Given the description of an element on the screen output the (x, y) to click on. 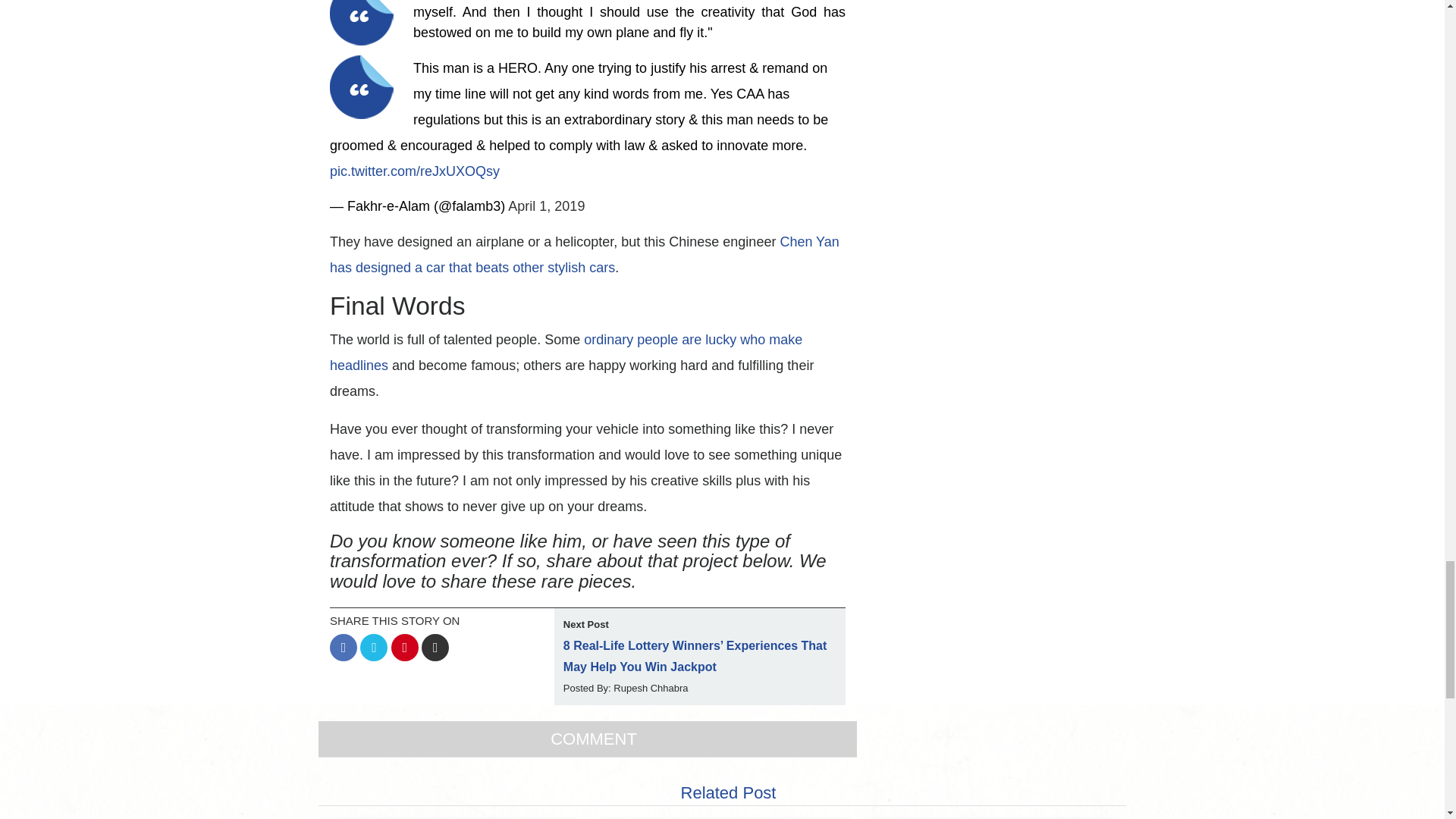
Chen Yan has designed a car that beats other stylish cars (585, 254)
April 1, 2019 (546, 206)
ordinary people are lucky who make headlines (566, 352)
